Given the description of an element on the screen output the (x, y) to click on. 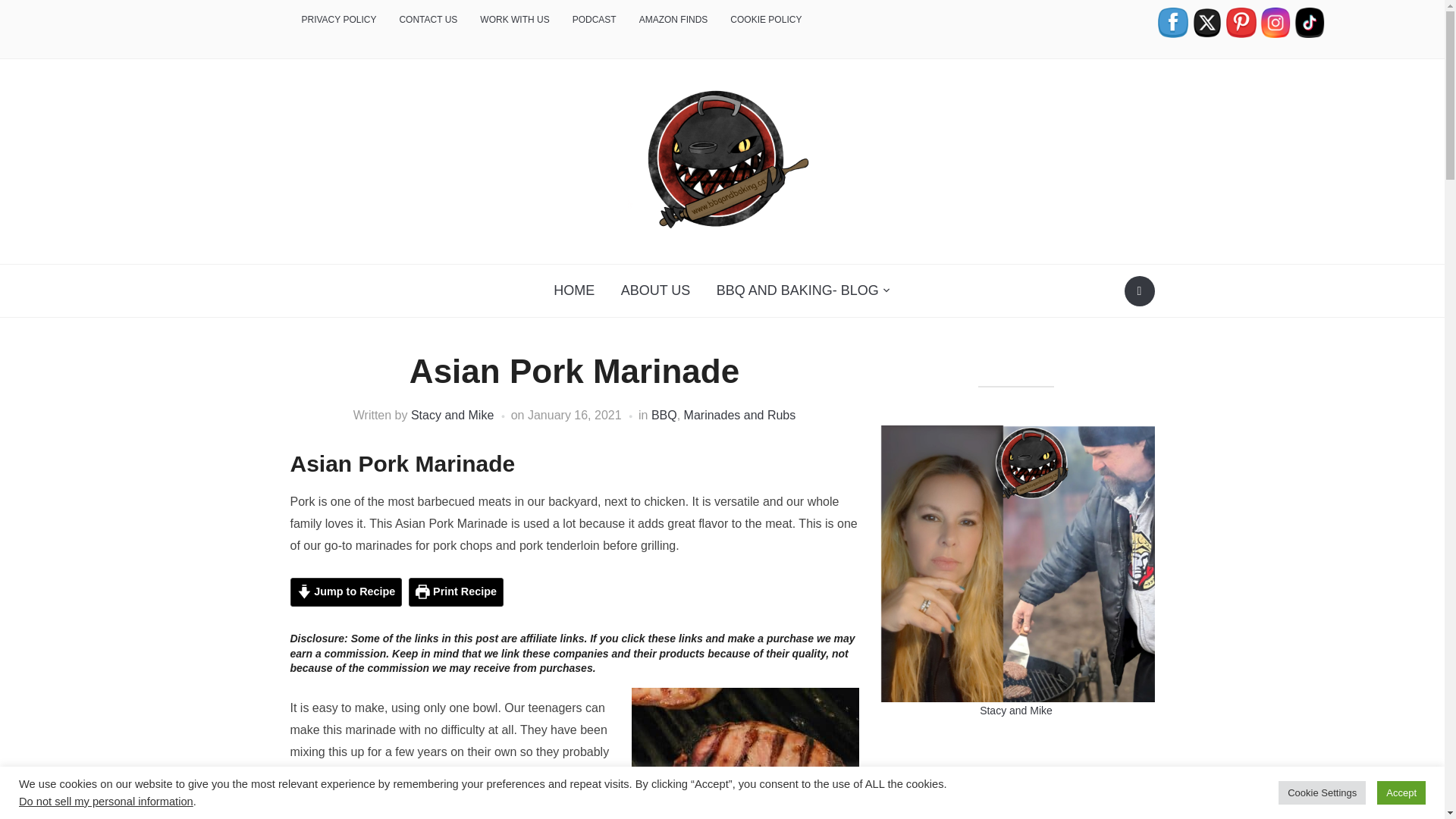
CONTACT US (427, 20)
HOME (573, 290)
PODCAST (593, 20)
Search (1139, 291)
AMAZON FINDS (673, 20)
Stacy and Mike (451, 414)
Twitter (1207, 22)
Marinades and Rubs (740, 414)
BBQ AND BAKING- BLOG (803, 290)
BBQ (663, 414)
